Given the description of an element on the screen output the (x, y) to click on. 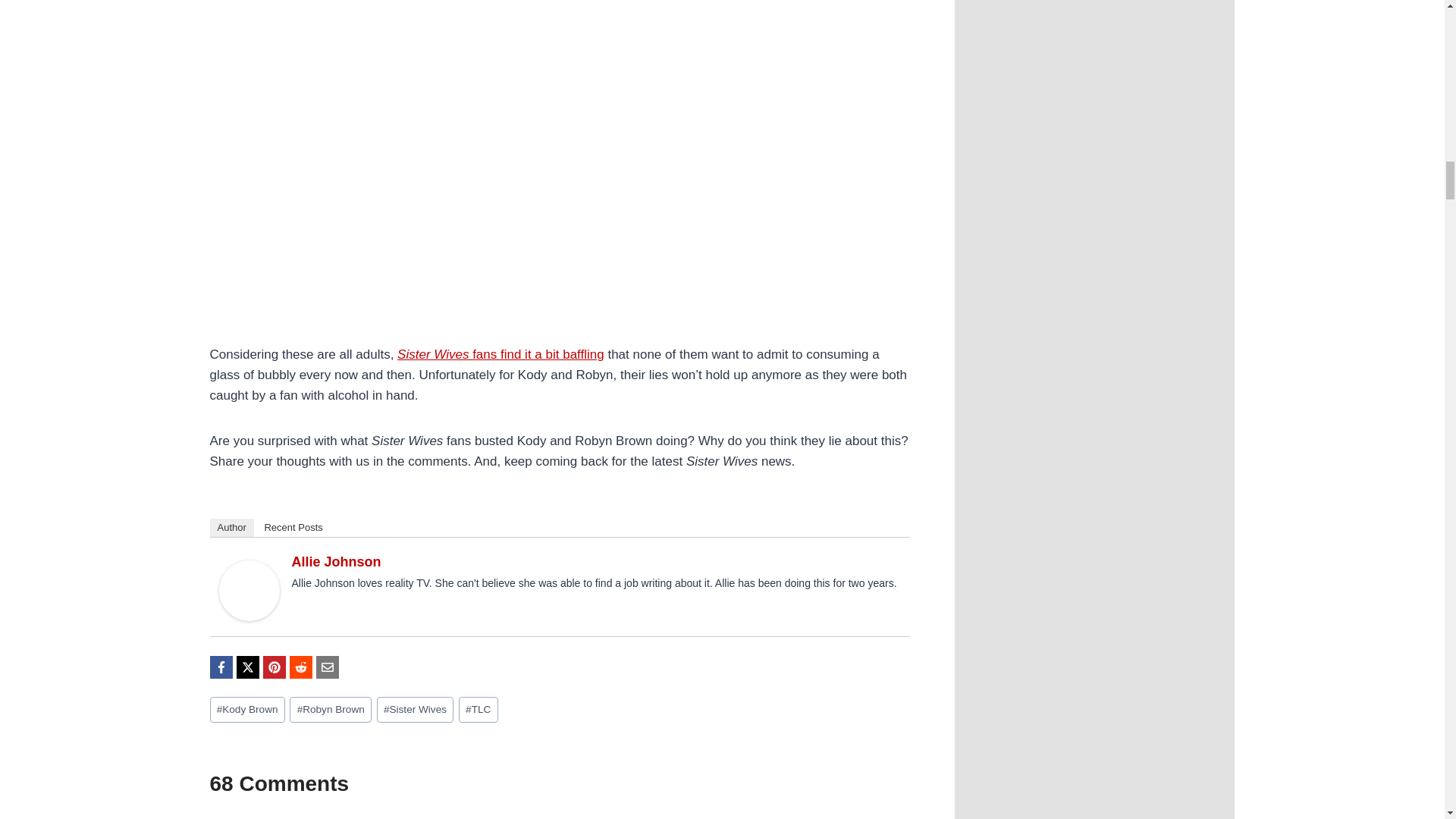
TLC (477, 709)
Sister Wives (414, 709)
Author (231, 527)
Recent Posts (293, 527)
Kody Brown (246, 709)
Sister Wives fans find it a bit baffling (500, 354)
Robyn Brown (330, 709)
Allie Johnson (335, 561)
Allie Johnson (248, 590)
